Given the description of an element on the screen output the (x, y) to click on. 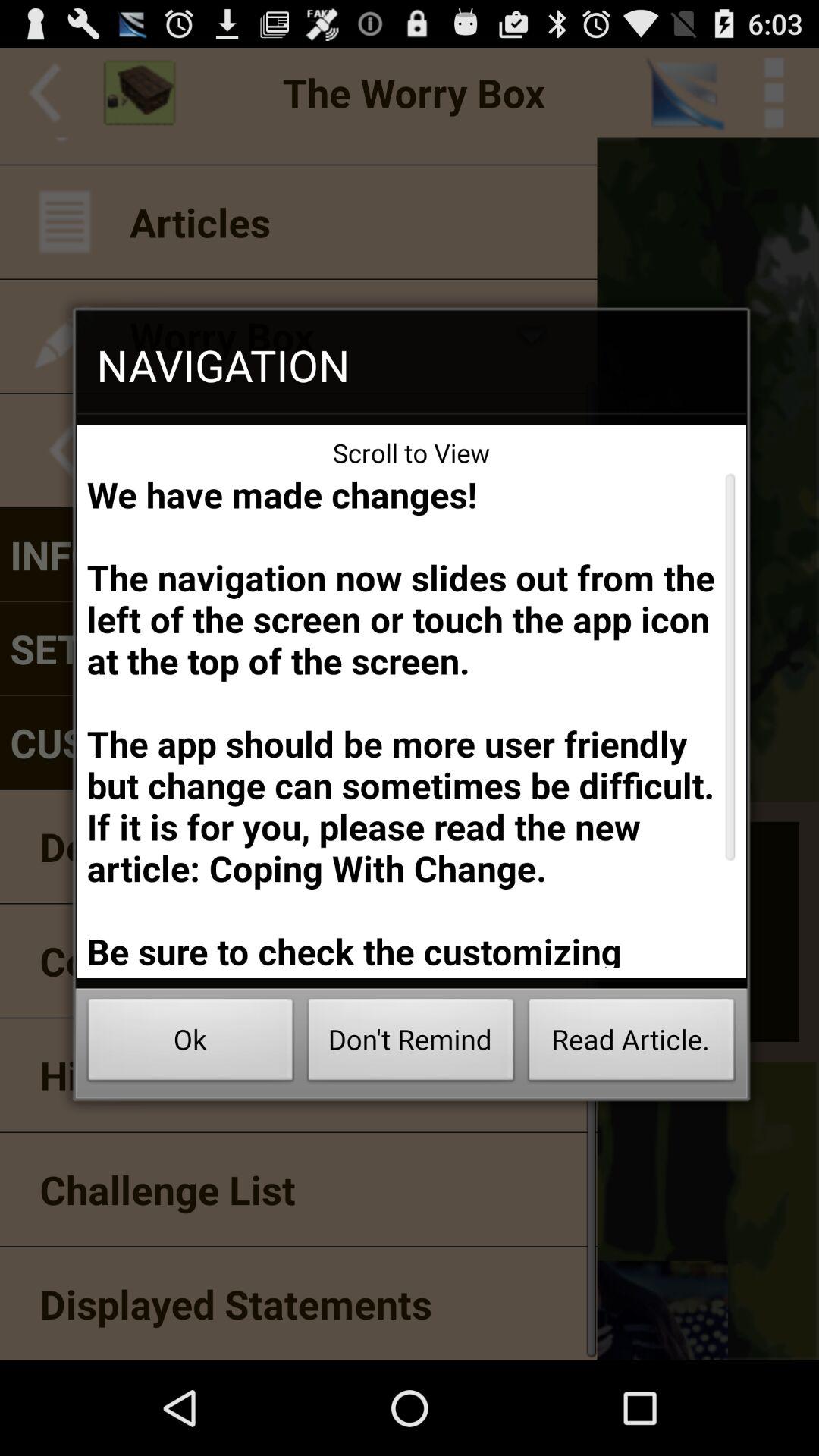
swipe until don't remind (410, 1044)
